Given the description of an element on the screen output the (x, y) to click on. 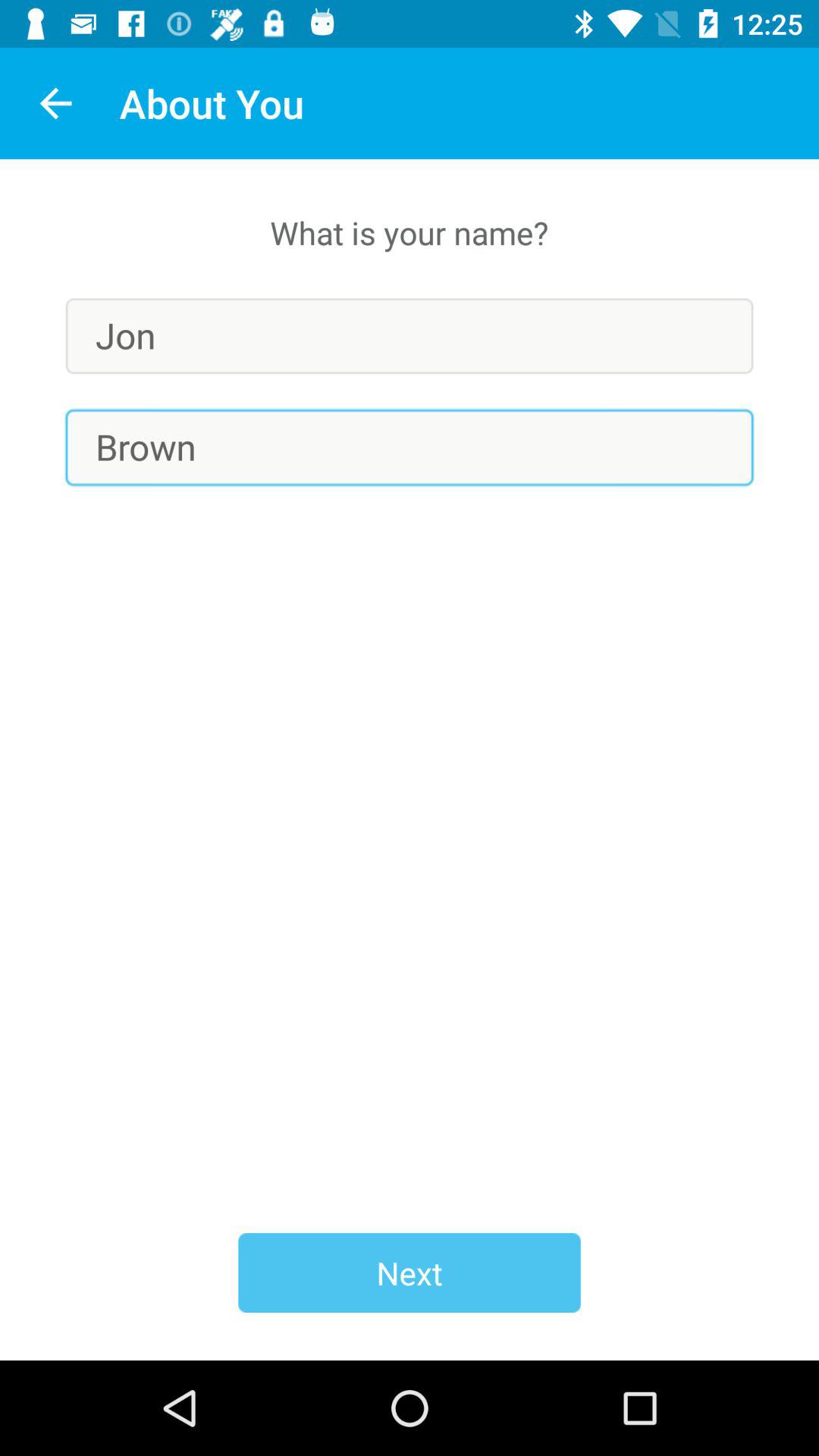
tap icon below what is your item (409, 335)
